Given the description of an element on the screen output the (x, y) to click on. 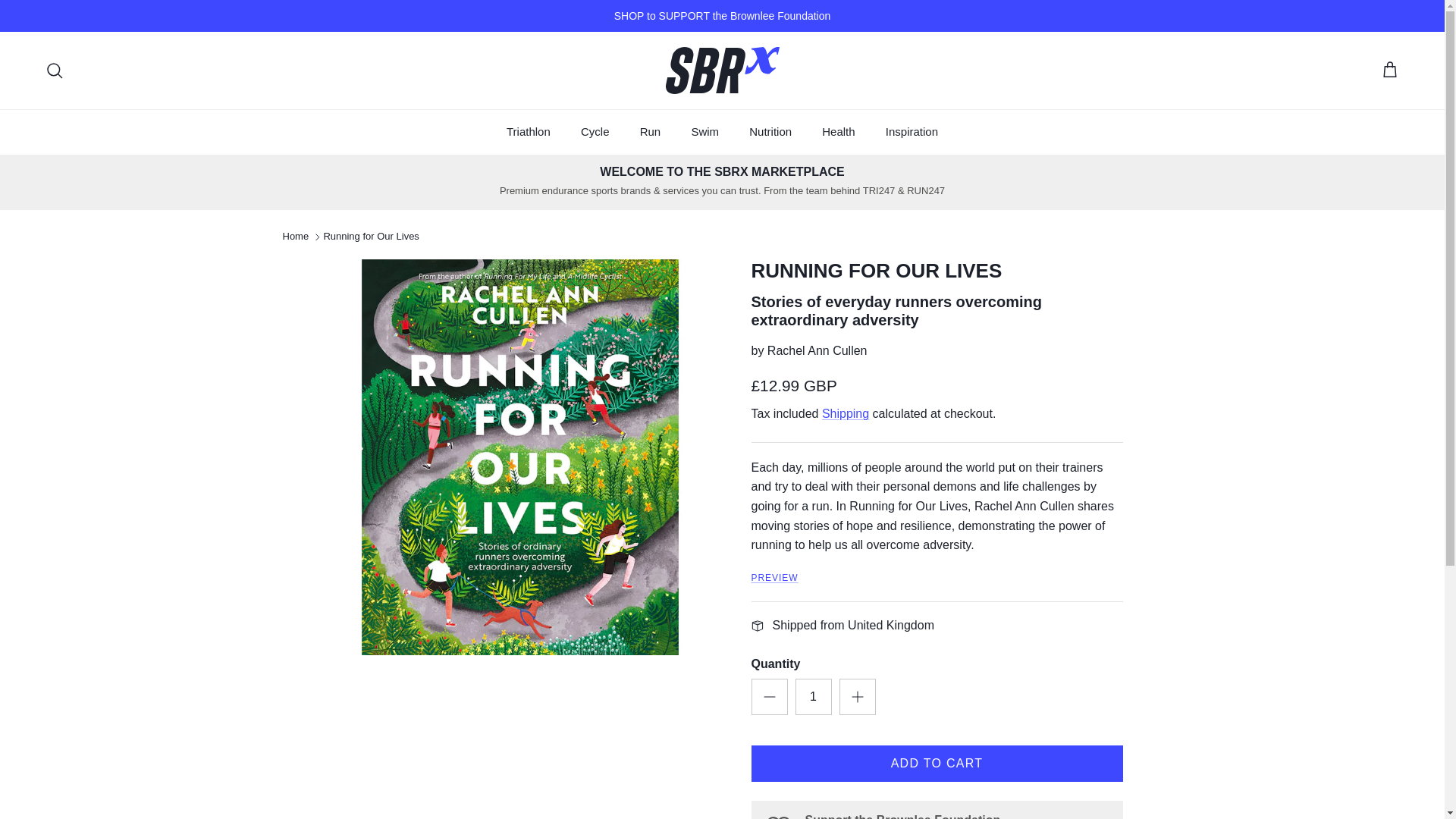
Cycle (595, 131)
Triathlon (528, 131)
1 (812, 696)
Cart (1389, 70)
SBRX (721, 70)
Search (54, 70)
